Given the description of an element on the screen output the (x, y) to click on. 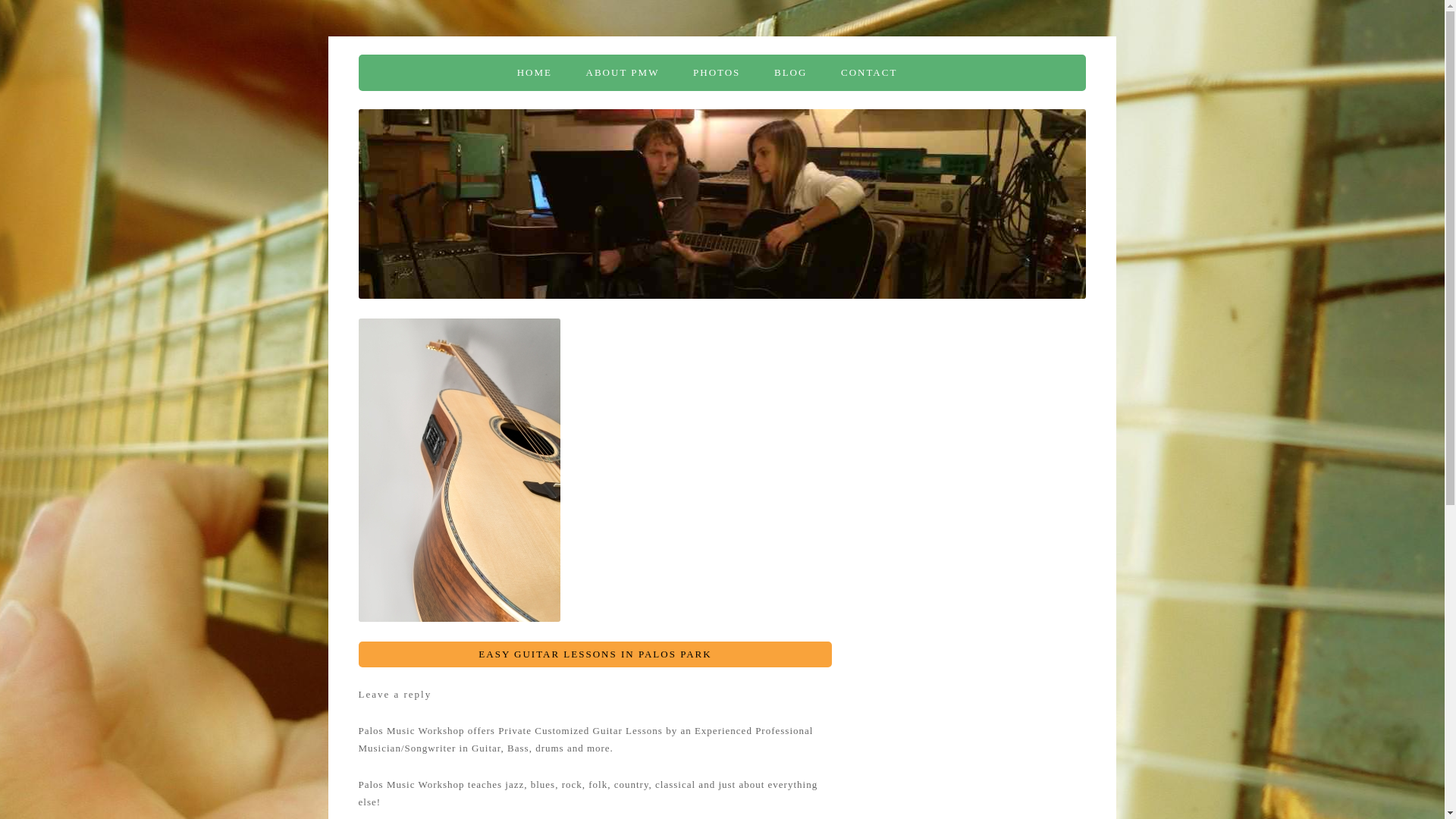
PHOTOS (716, 72)
ABOUT PMW (622, 72)
CONTACT (868, 72)
Palos Music Workshop (465, 72)
BLOG (790, 72)
HOME (533, 72)
Leave a reply (394, 694)
